Given the description of an element on the screen output the (x, y) to click on. 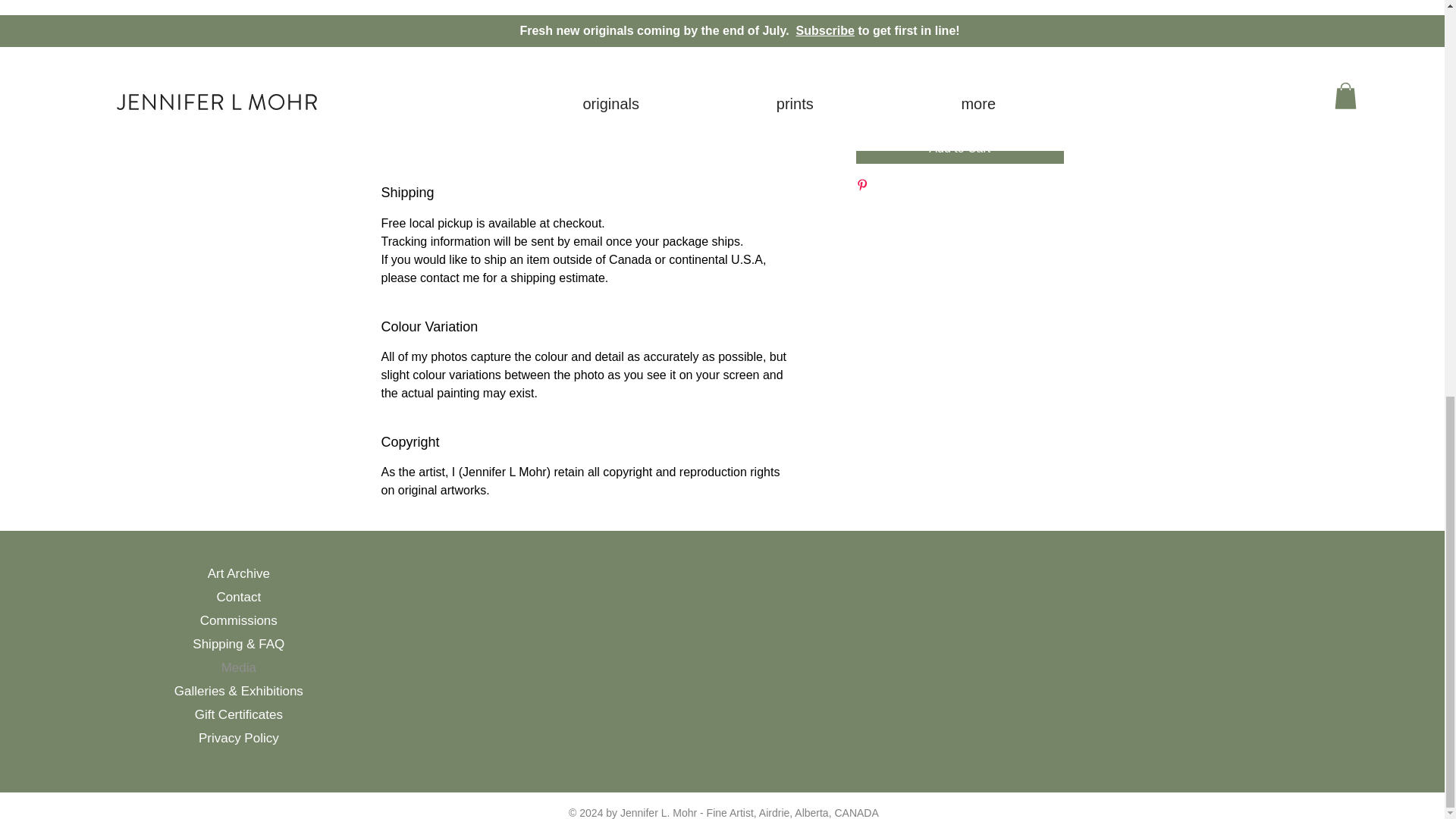
Media (237, 667)
1 (885, 69)
Art Archive (237, 573)
Contact (237, 597)
Privacy Policy (237, 738)
Standard Shipping (906, 11)
Commissions (237, 620)
Add to Cart (959, 148)
Gift Certificates (237, 714)
